Given the description of an element on the screen output the (x, y) to click on. 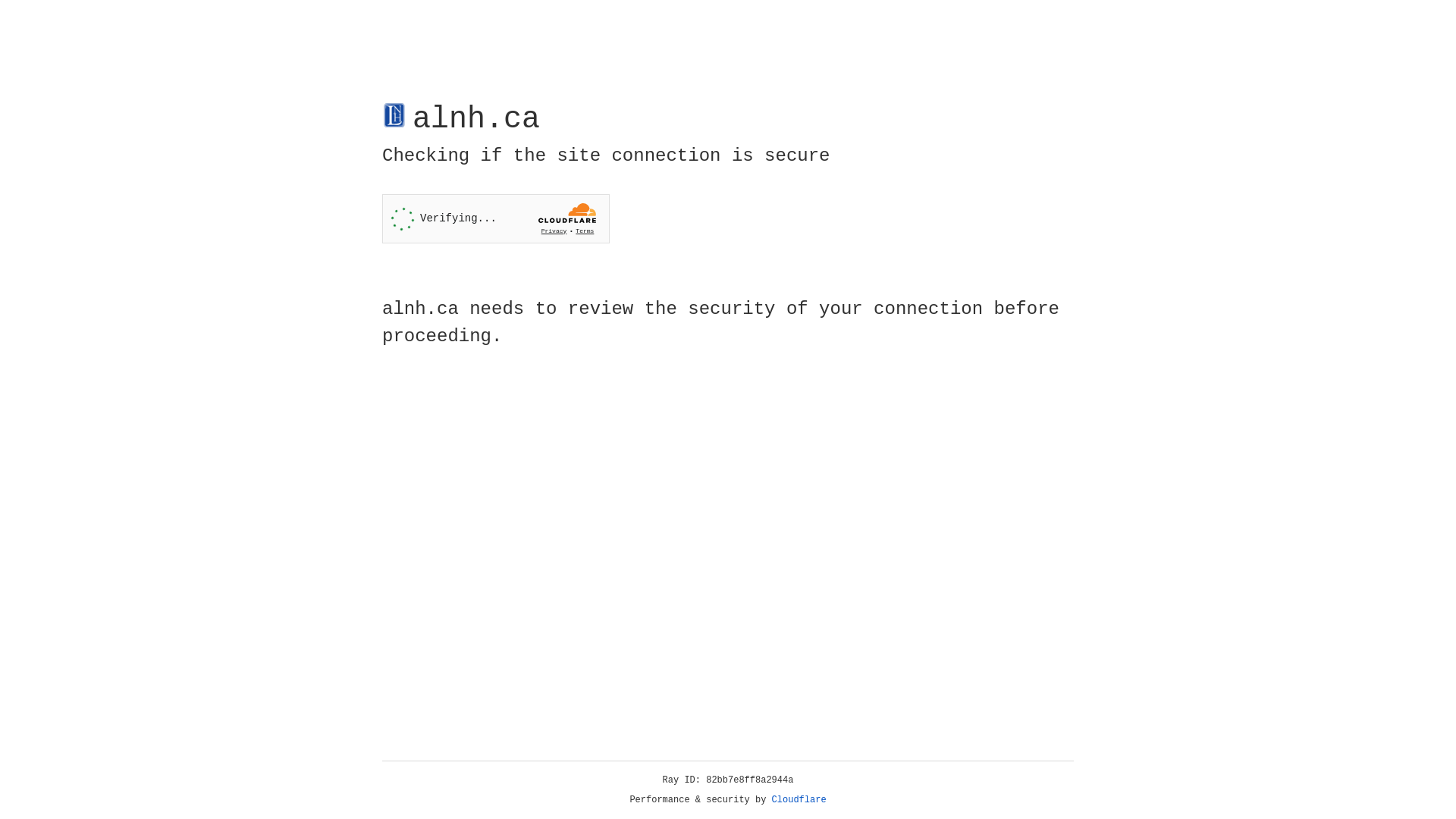
Widget containing a Cloudflare security challenge Element type: hover (495, 218)
Cloudflare Element type: text (798, 799)
